Given the description of an element on the screen output the (x, y) to click on. 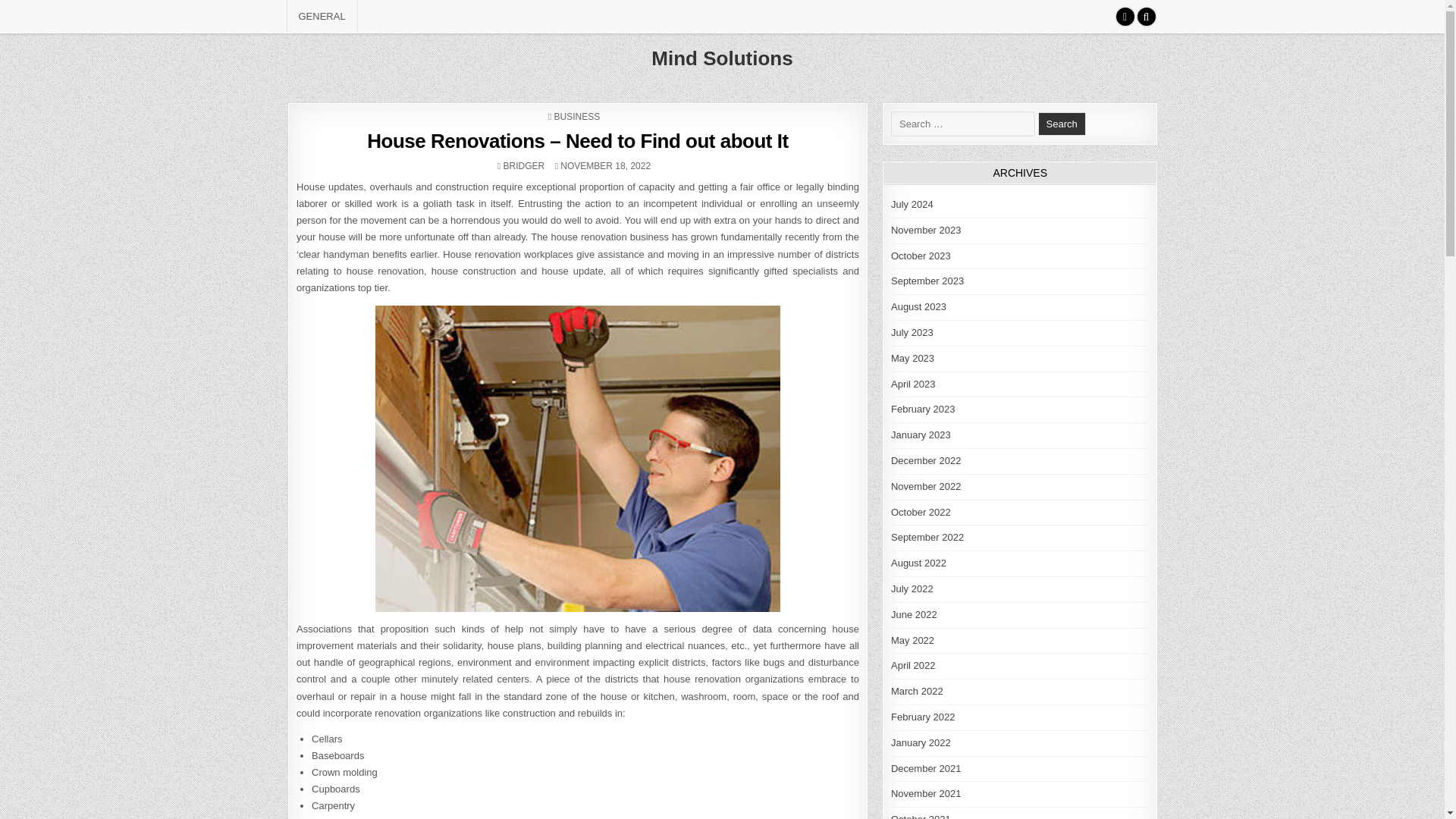
December 2022 (925, 460)
April 2022 (913, 665)
November 2022 (925, 486)
November 2021 (925, 793)
BUSINESS (576, 116)
August 2023 (918, 306)
October 2023 (920, 255)
July 2022 (912, 588)
May 2023 (912, 357)
December 2021 (925, 767)
June 2022 (523, 165)
February 2022 (914, 614)
March 2022 (923, 716)
November 2023 (917, 690)
